Given the description of an element on the screen output the (x, y) to click on. 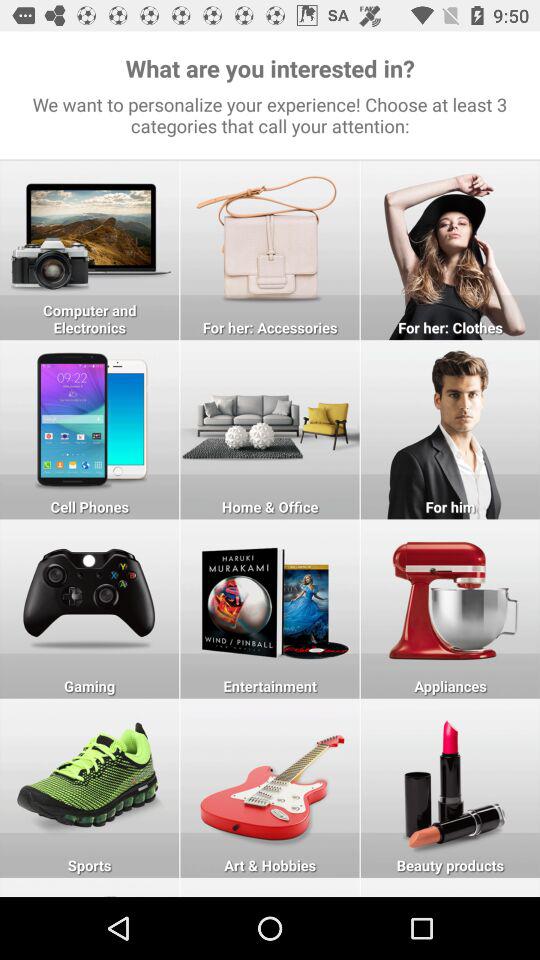
art and hobbies (269, 887)
